Given the description of an element on the screen output the (x, y) to click on. 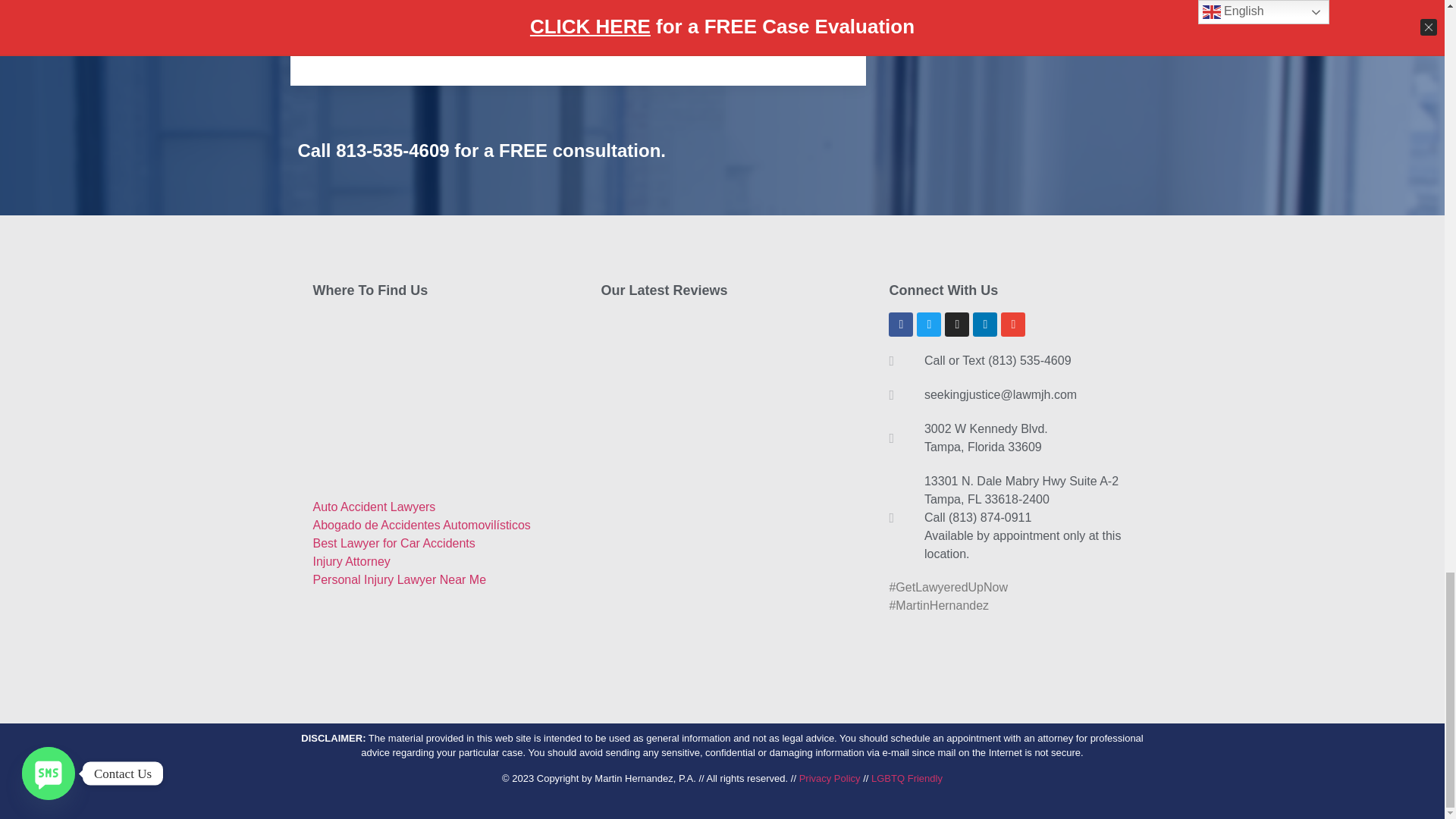
 3002 W Kennedy Blvd. Tampa, Florida 33609 (433, 397)
